Given the description of an element on the screen output the (x, y) to click on. 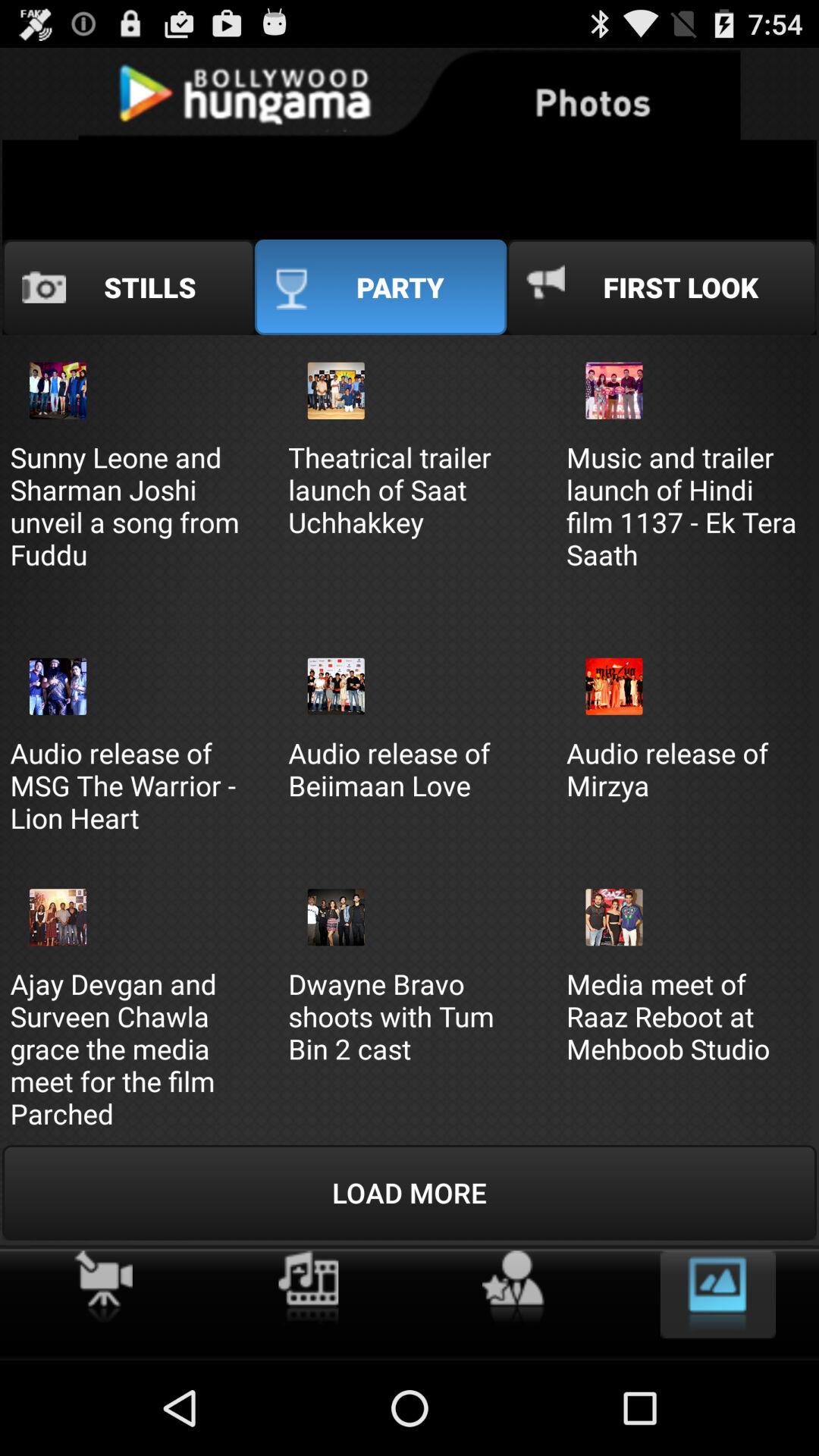
go to image option (717, 1294)
